Given the description of an element on the screen output the (x, y) to click on. 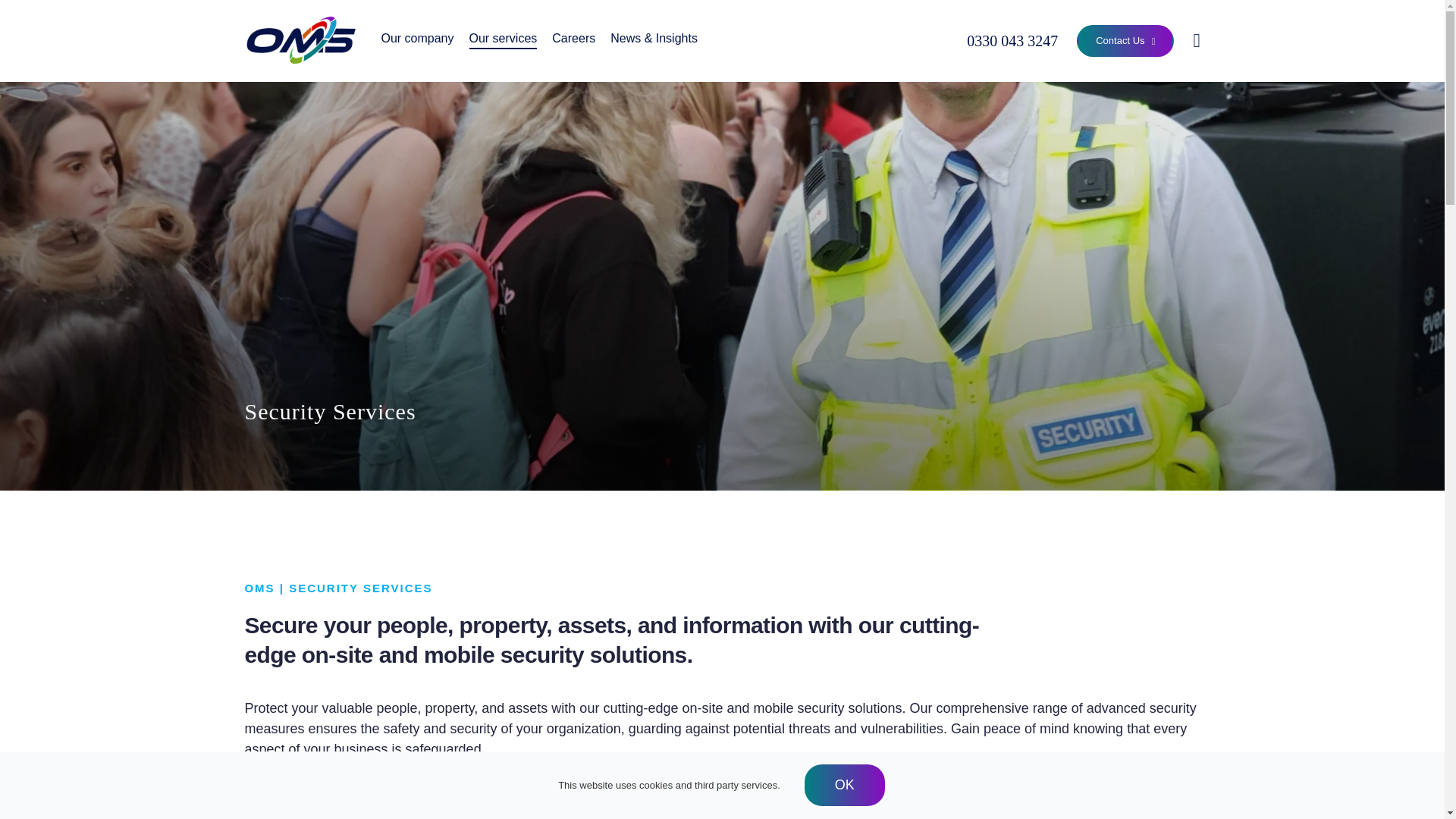
Our services (502, 39)
Our company (416, 39)
Careers (573, 39)
